Given the description of an element on the screen output the (x, y) to click on. 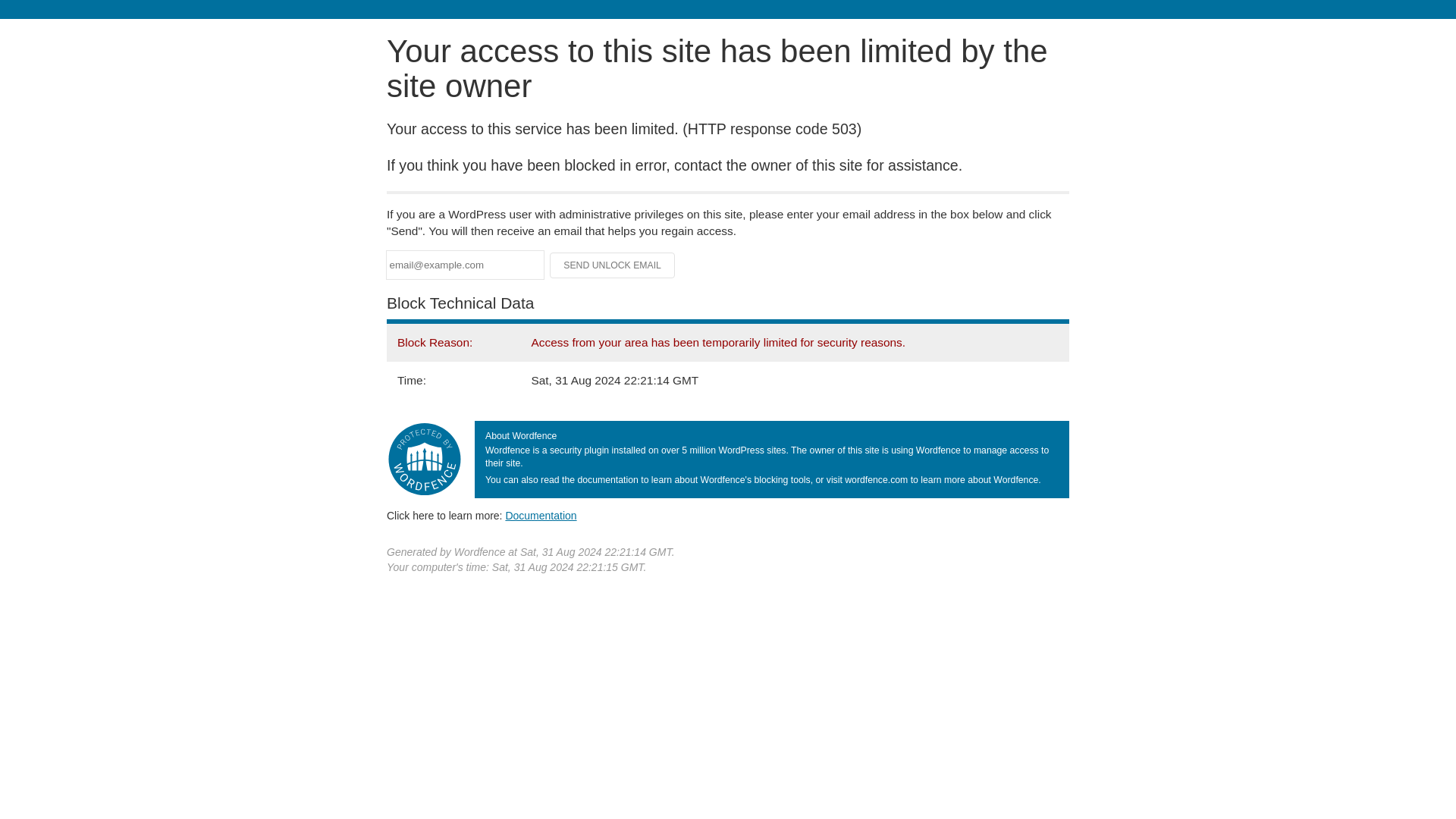
Send Unlock Email (612, 265)
Send Unlock Email (612, 265)
Documentation (540, 515)
